Given the description of an element on the screen output the (x, y) to click on. 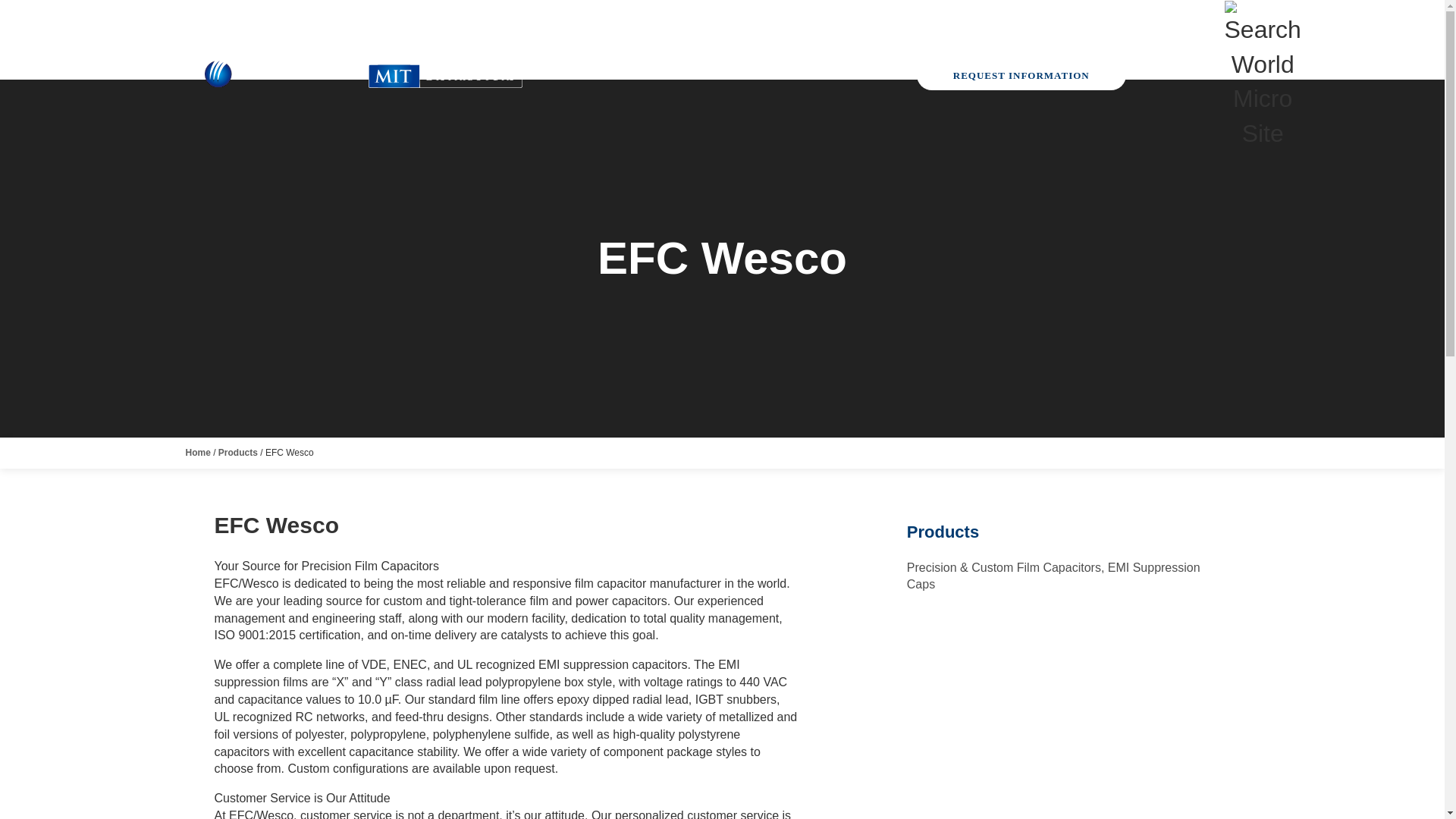
Go to World Micro. (196, 452)
REQUEST INFORMATION (1021, 75)
Go to Products. (237, 452)
